Given the description of an element on the screen output the (x, y) to click on. 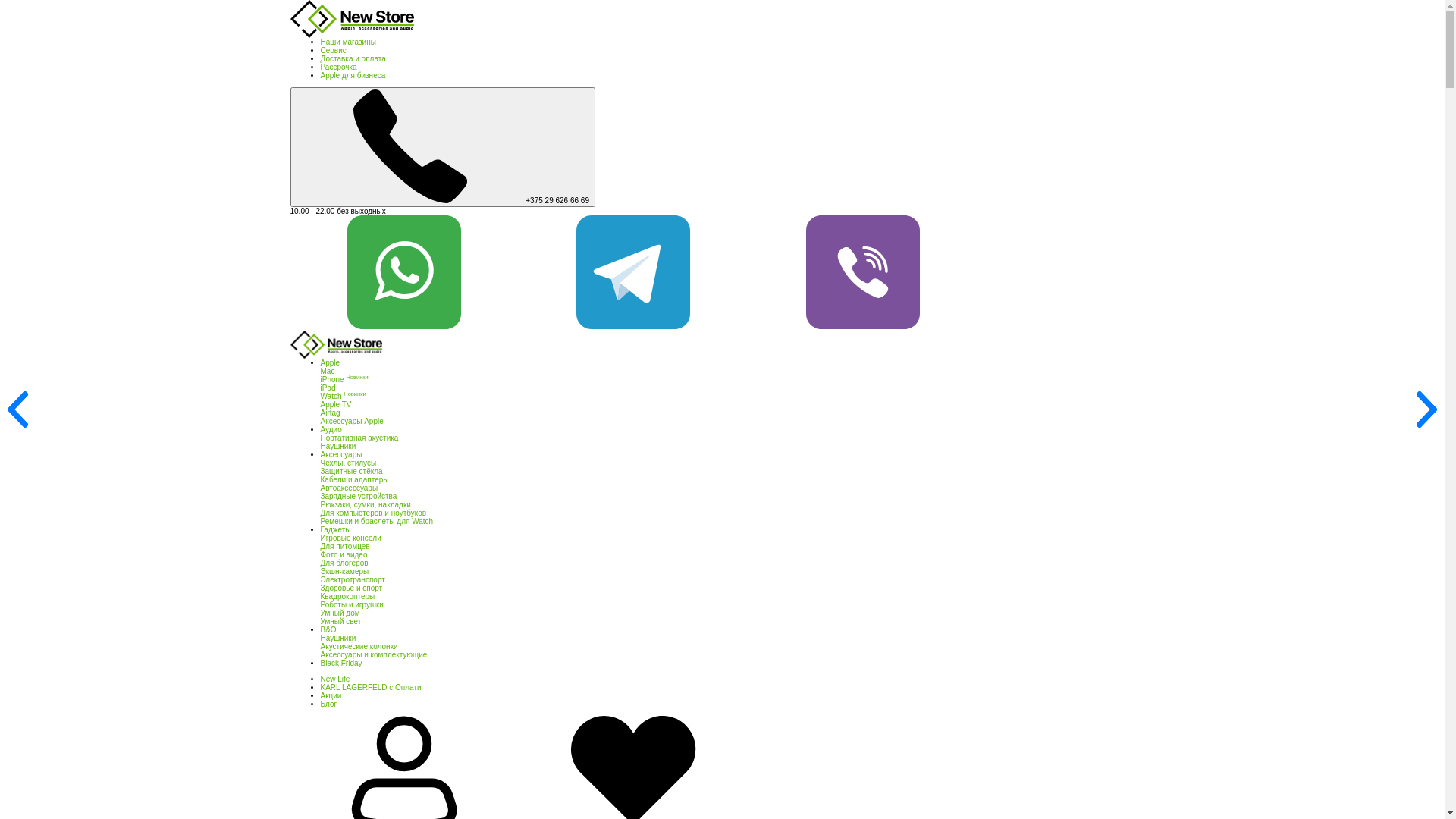
New Life Element type: text (334, 678)
Mac Element type: text (327, 371)
+375 29 626 66 69 Element type: text (441, 147)
B&O Element type: text (327, 629)
Apple TV Element type: text (335, 404)
Airtag Element type: text (329, 412)
Apple Element type: text (329, 362)
New Store Element type: hover (335, 344)
New Store Element type: hover (351, 18)
Black Friday Element type: text (340, 662)
iPad Element type: text (327, 387)
